Given the description of an element on the screen output the (x, y) to click on. 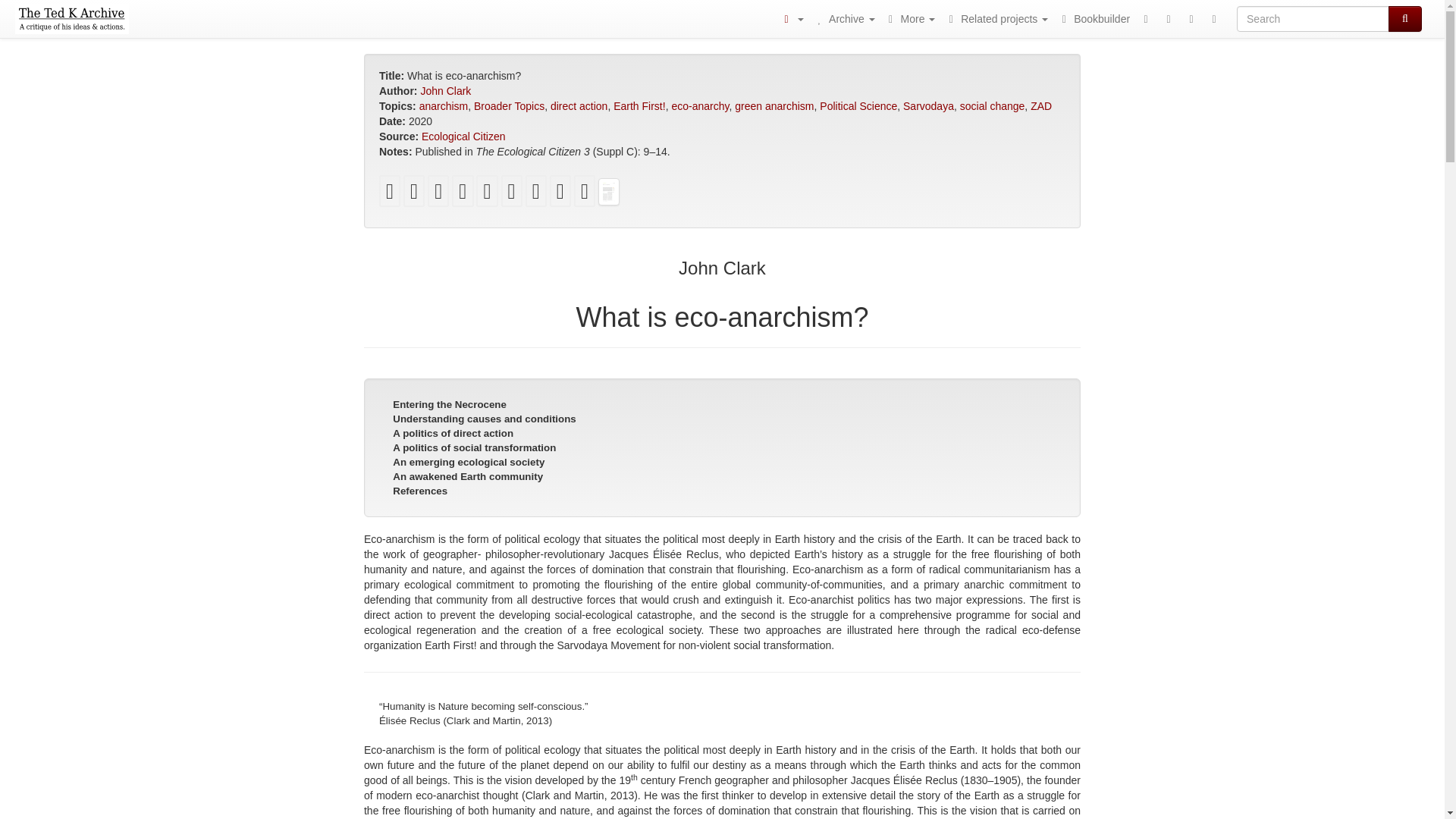
Archive (843, 18)
about, links... (909, 18)
More (909, 18)
texts by authors, title, topic... (843, 18)
The Ted K Archive (71, 18)
Random (1190, 18)
Table of Contents (791, 18)
Search (1405, 18)
Mobile (1145, 18)
Add a new text (1213, 18)
Bookbuilder (1093, 18)
Related projects (995, 18)
RSS feed (1168, 18)
Plain PDF (389, 191)
Related projects (995, 18)
